Given the description of an element on the screen output the (x, y) to click on. 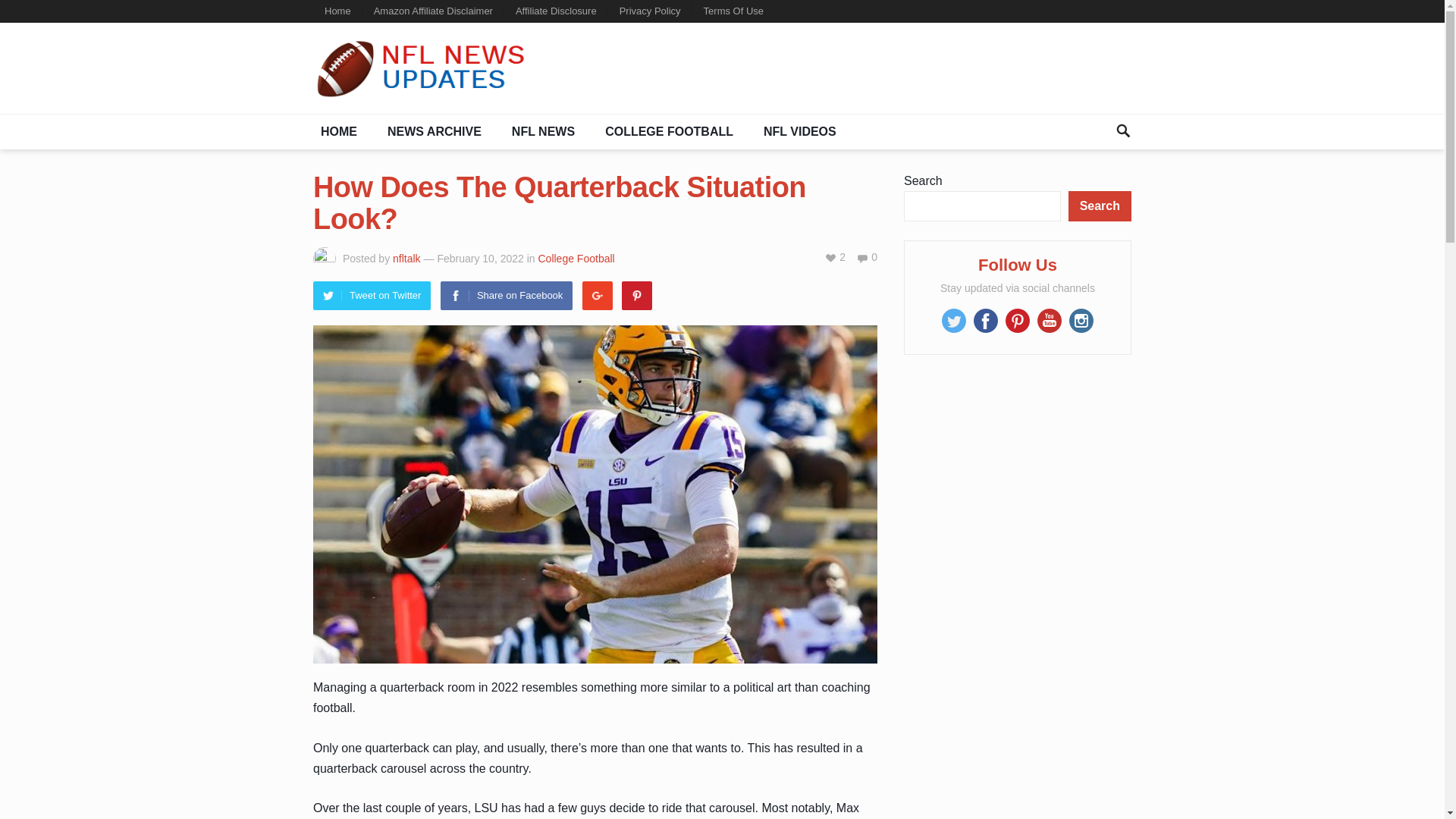
Amazon Affiliate Disclaimer (432, 11)
College Football (576, 258)
COLLEGE FOOTBALL (668, 131)
Terms Of Use (733, 11)
HOME (339, 131)
Privacy Policy (650, 11)
Affiliate Disclosure (555, 11)
NFL VIDEOS (799, 131)
Like (834, 256)
View all posts in College Football (576, 258)
